Given the description of an element on the screen output the (x, y) to click on. 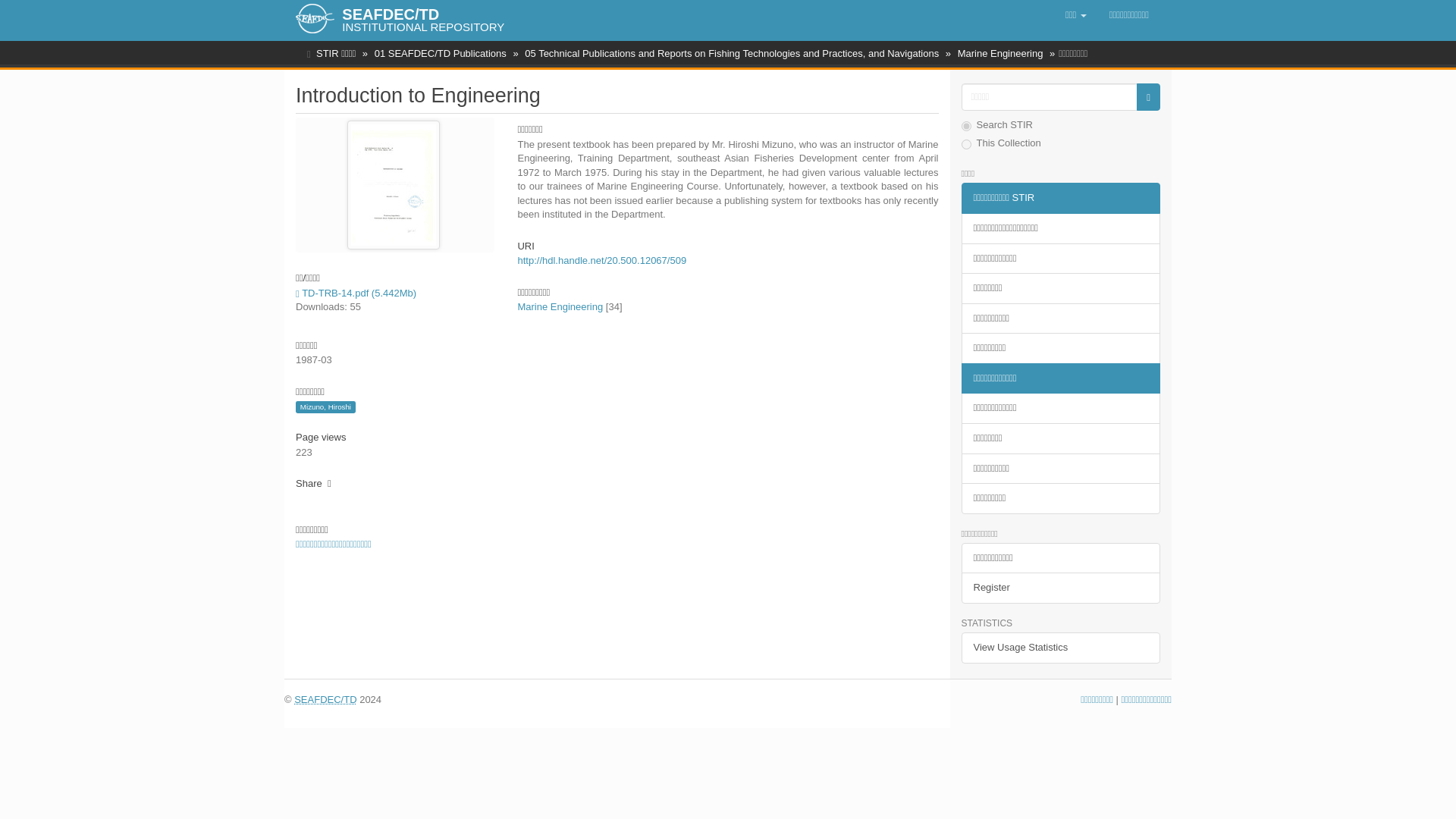
Marine Engineering (1000, 52)
Marine Engineering (559, 306)
Mizuno, Hiroshi (325, 407)
